Given the description of an element on the screen output the (x, y) to click on. 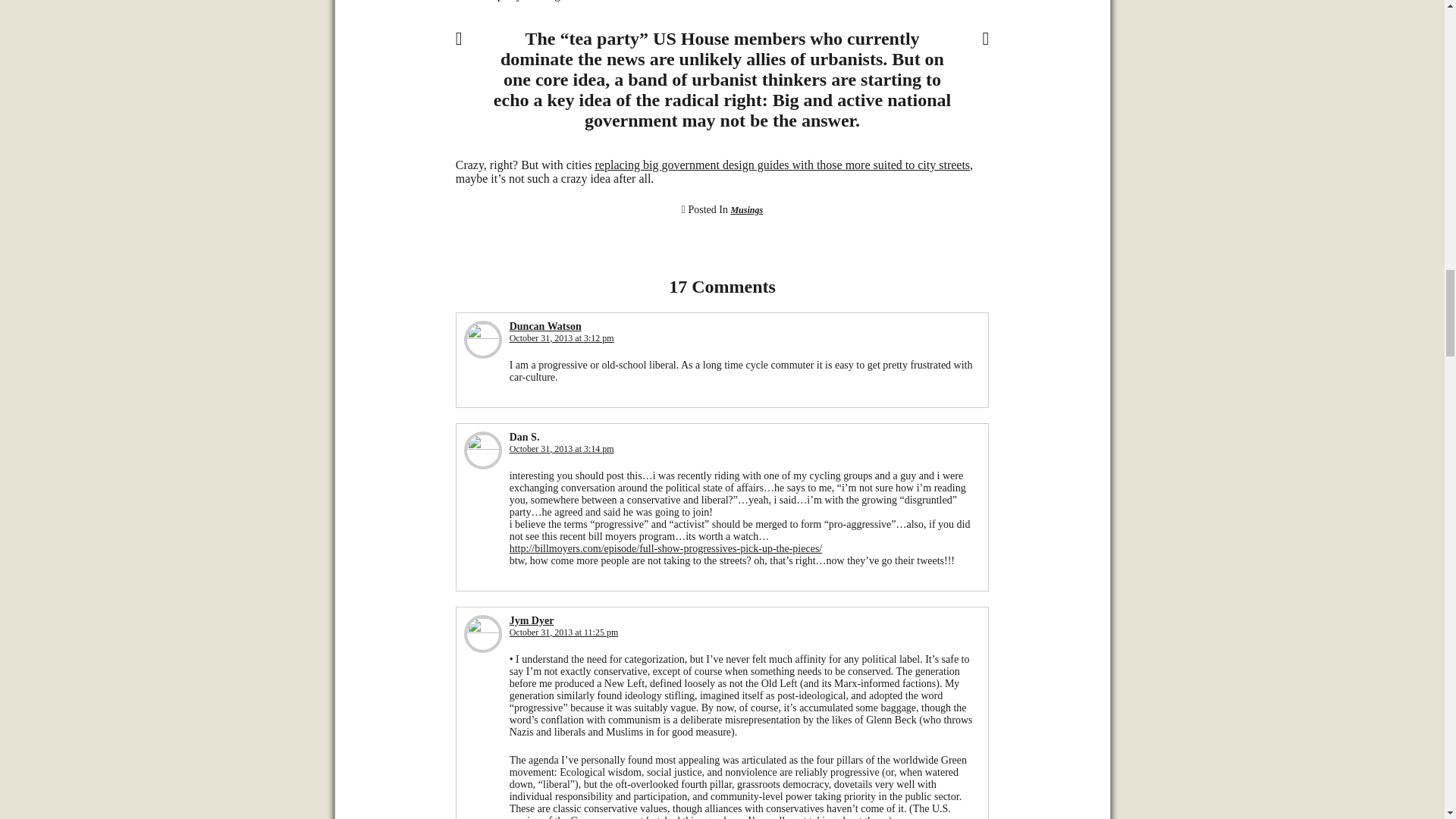
Jym Dyer (531, 620)
Duncan Watson (544, 326)
October 31, 2013 at 3:12 pm (561, 337)
October 31, 2013 at 11:25 pm (563, 632)
October 31, 2013 at 3:14 pm (561, 448)
Musings (746, 209)
